Given the description of an element on the screen output the (x, y) to click on. 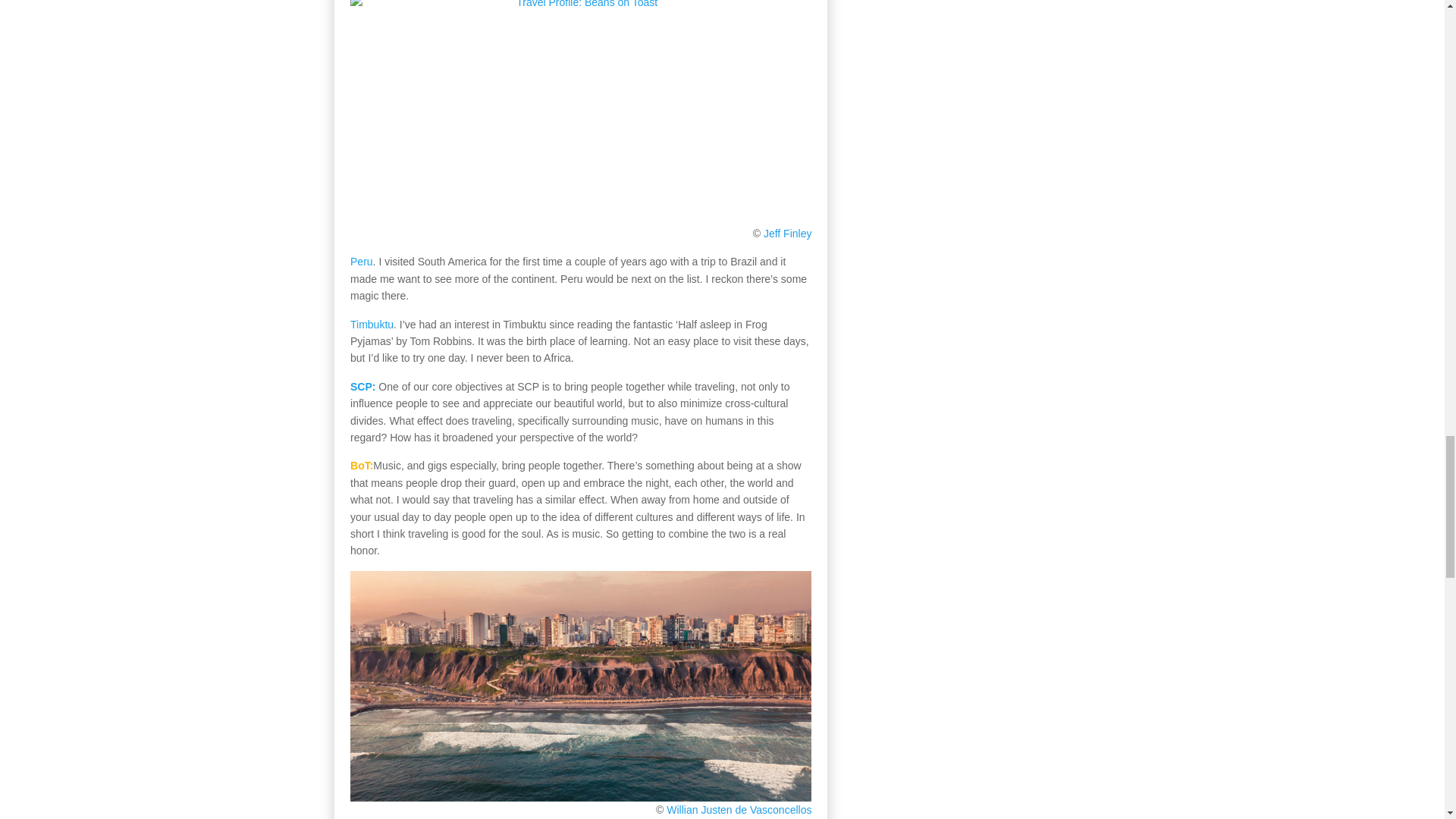
Jeff Finley (787, 233)
Peru (361, 261)
